Given the description of an element on the screen output the (x, y) to click on. 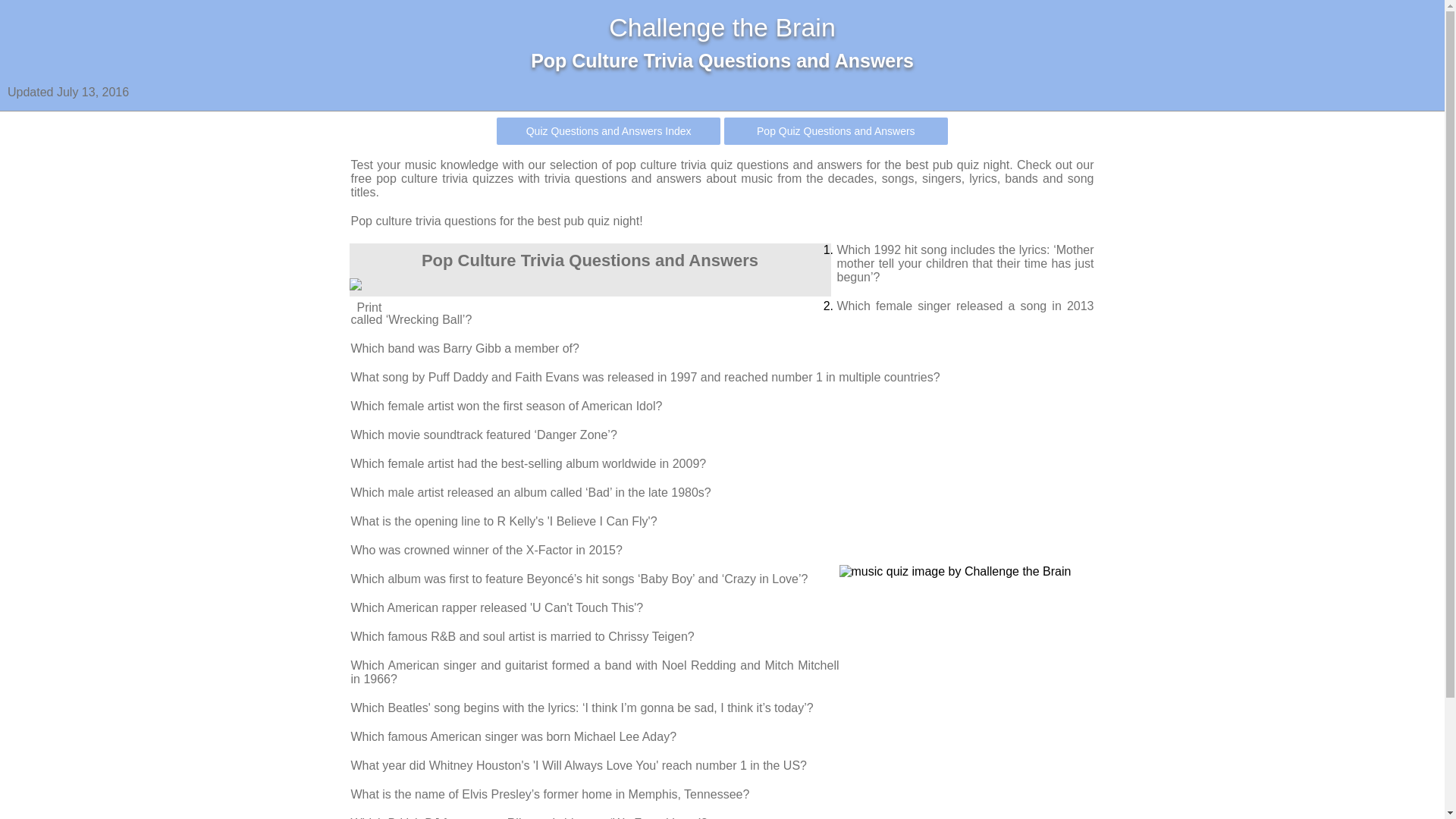
Print (589, 301)
Pop Quiz Questions and Answers (835, 130)
Quiz Questions and Answers Index (608, 130)
